Given the description of an element on the screen output the (x, y) to click on. 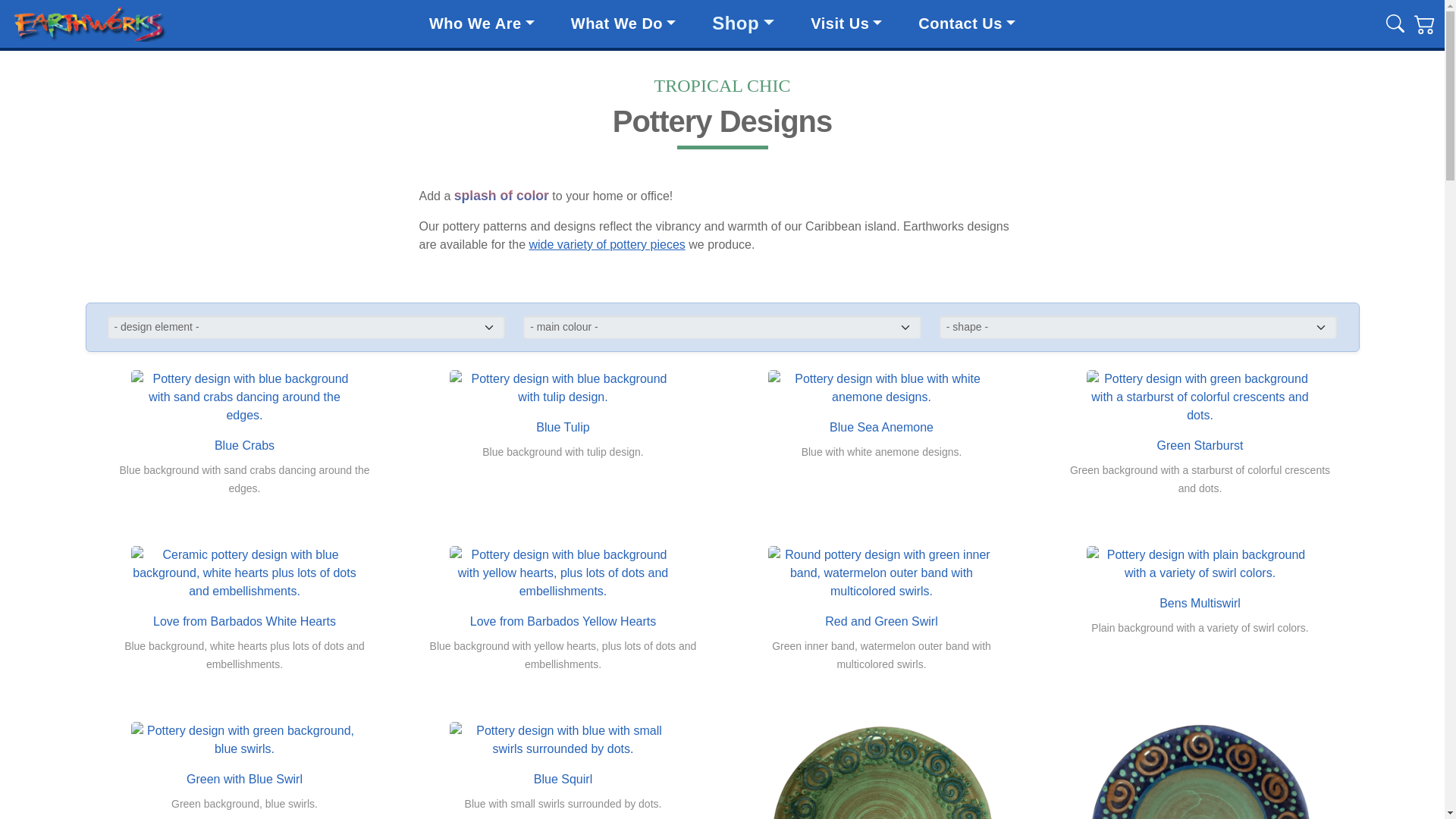
Visit Us (846, 23)
Contact Us (966, 23)
What We Do (622, 23)
Who We Are (481, 23)
Shop (742, 23)
